Given the description of an element on the screen output the (x, y) to click on. 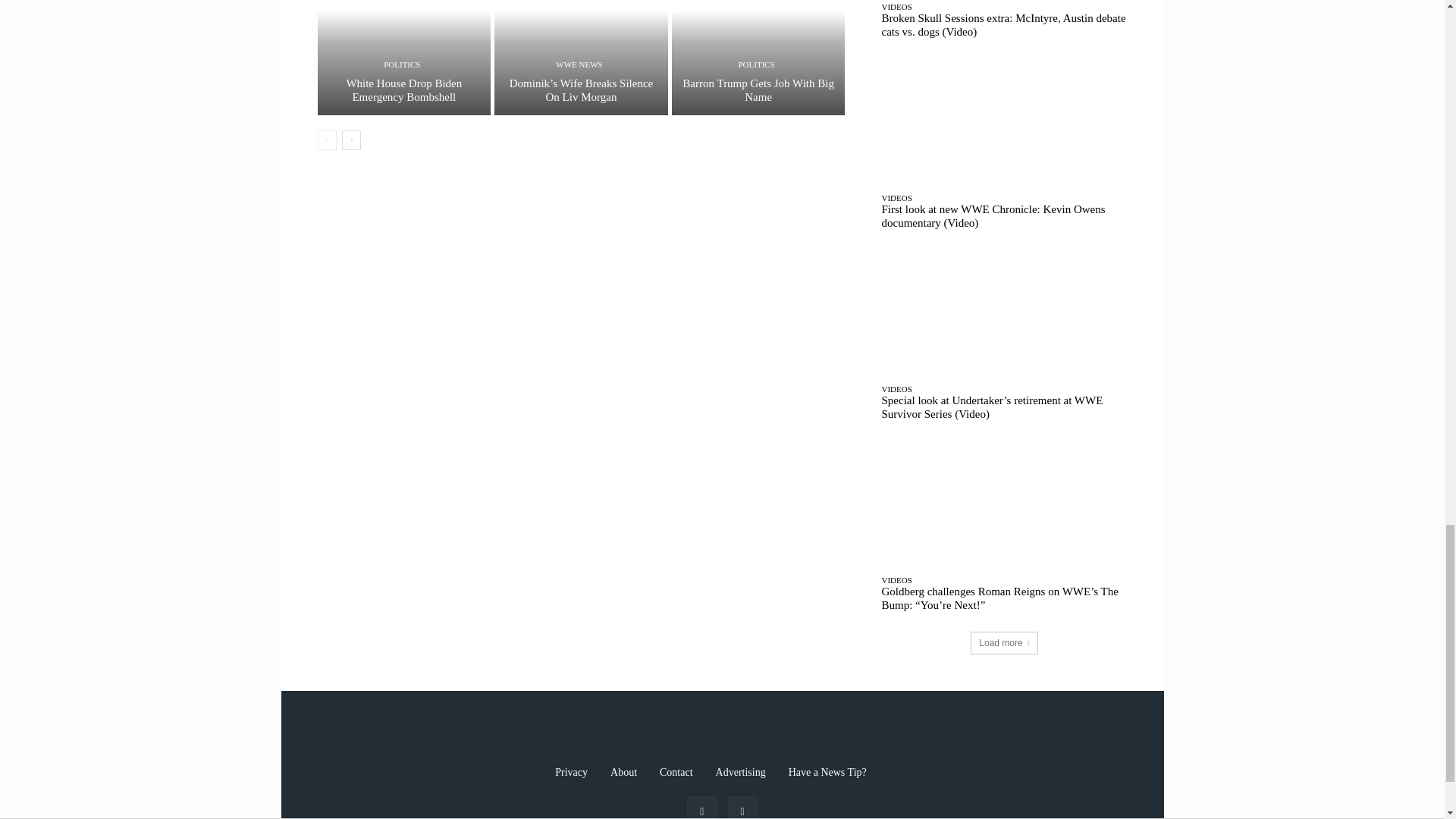
Barron Trump Gets Job With Big Name (758, 57)
White House Drop Biden Emergency Bombshell (403, 89)
Barron Trump Gets Job With Big Name (758, 89)
White House Drop Biden Emergency Bombshell (403, 57)
